Given the description of an element on the screen output the (x, y) to click on. 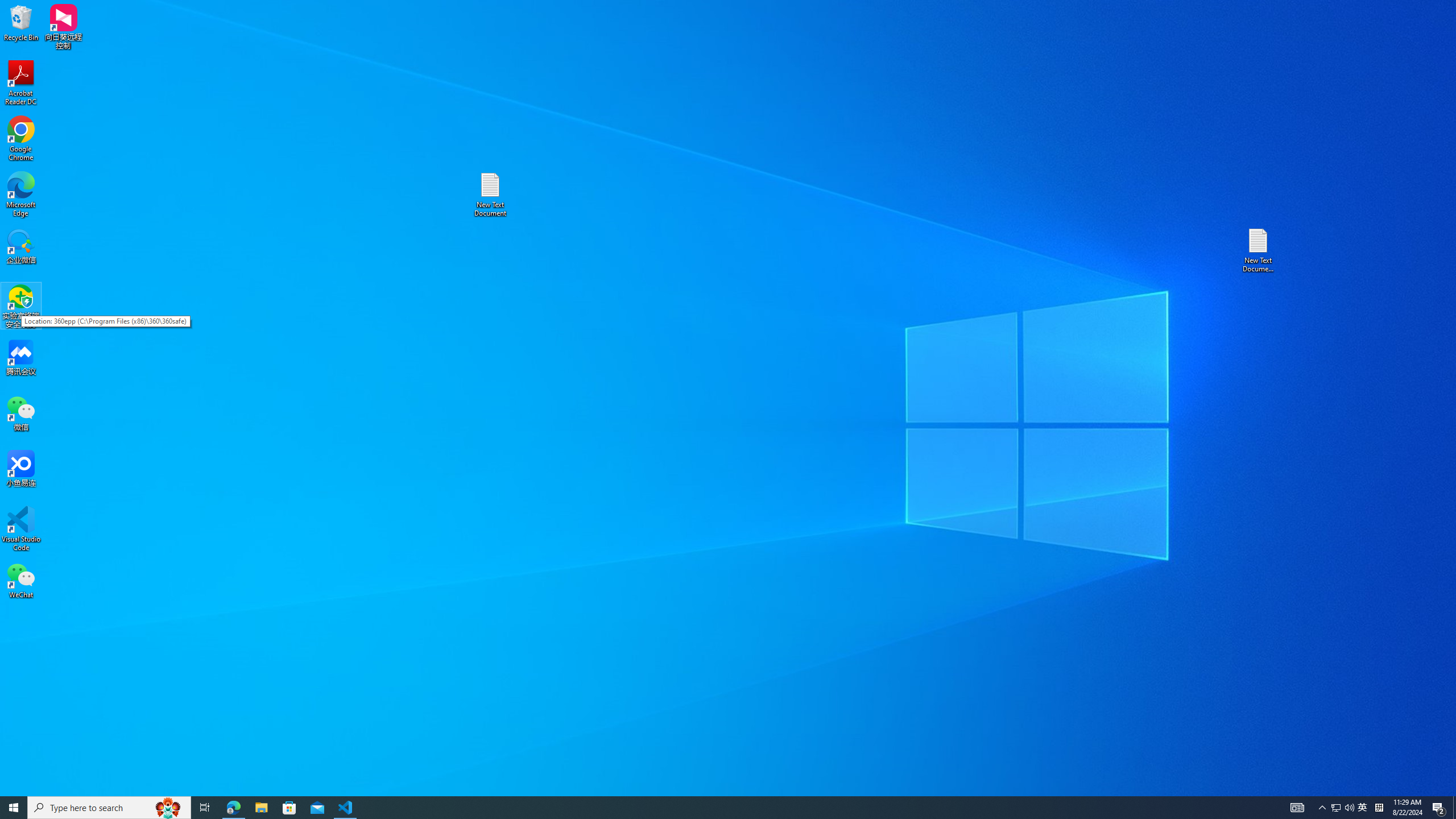
Notification Chevron (1322, 807)
Visual Studio Code - 1 running window (345, 807)
